Given the description of an element on the screen output the (x, y) to click on. 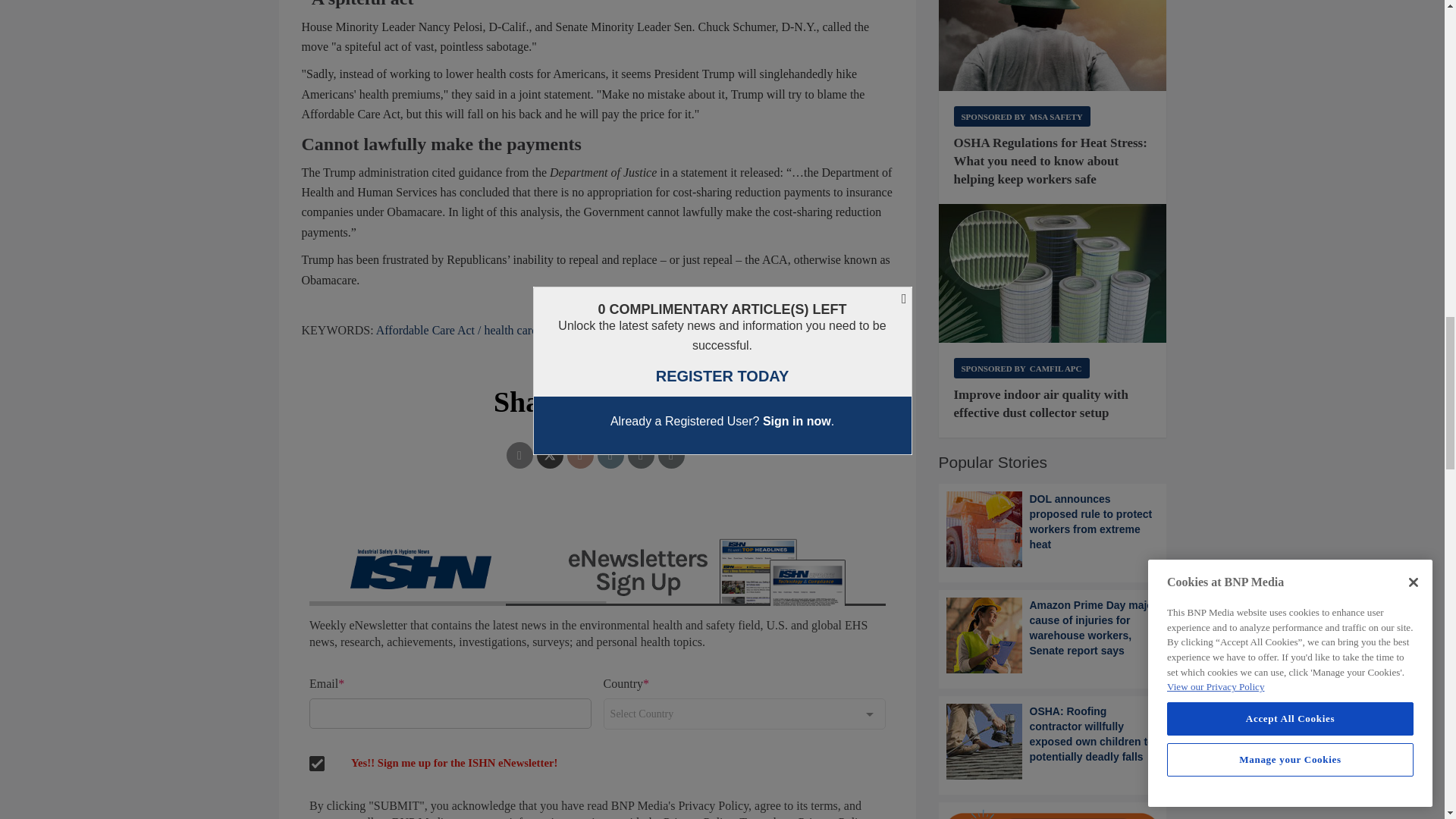
dust collector filters and media (1052, 273)
man working in summer heat (1052, 45)
Sponsored by MSA Safety (1021, 116)
Sponsored by Camfil APC (1021, 367)
